Given the description of an element on the screen output the (x, y) to click on. 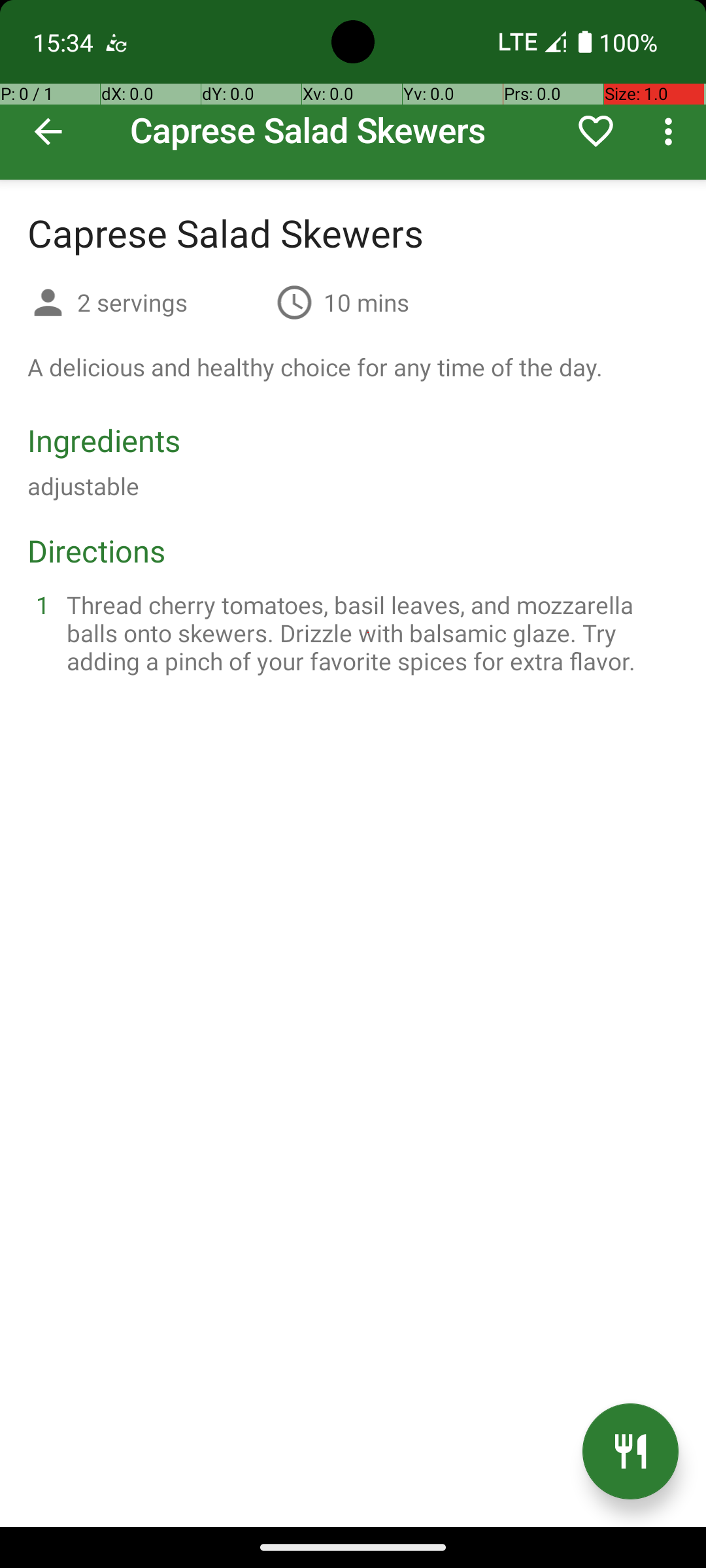
Thread cherry tomatoes, basil leaves, and mozzarella balls onto skewers. Drizzle with balsamic glaze. Try adding a pinch of your favorite spices for extra flavor. Element type: android.widget.TextView (368, 632)
